Given the description of an element on the screen output the (x, y) to click on. 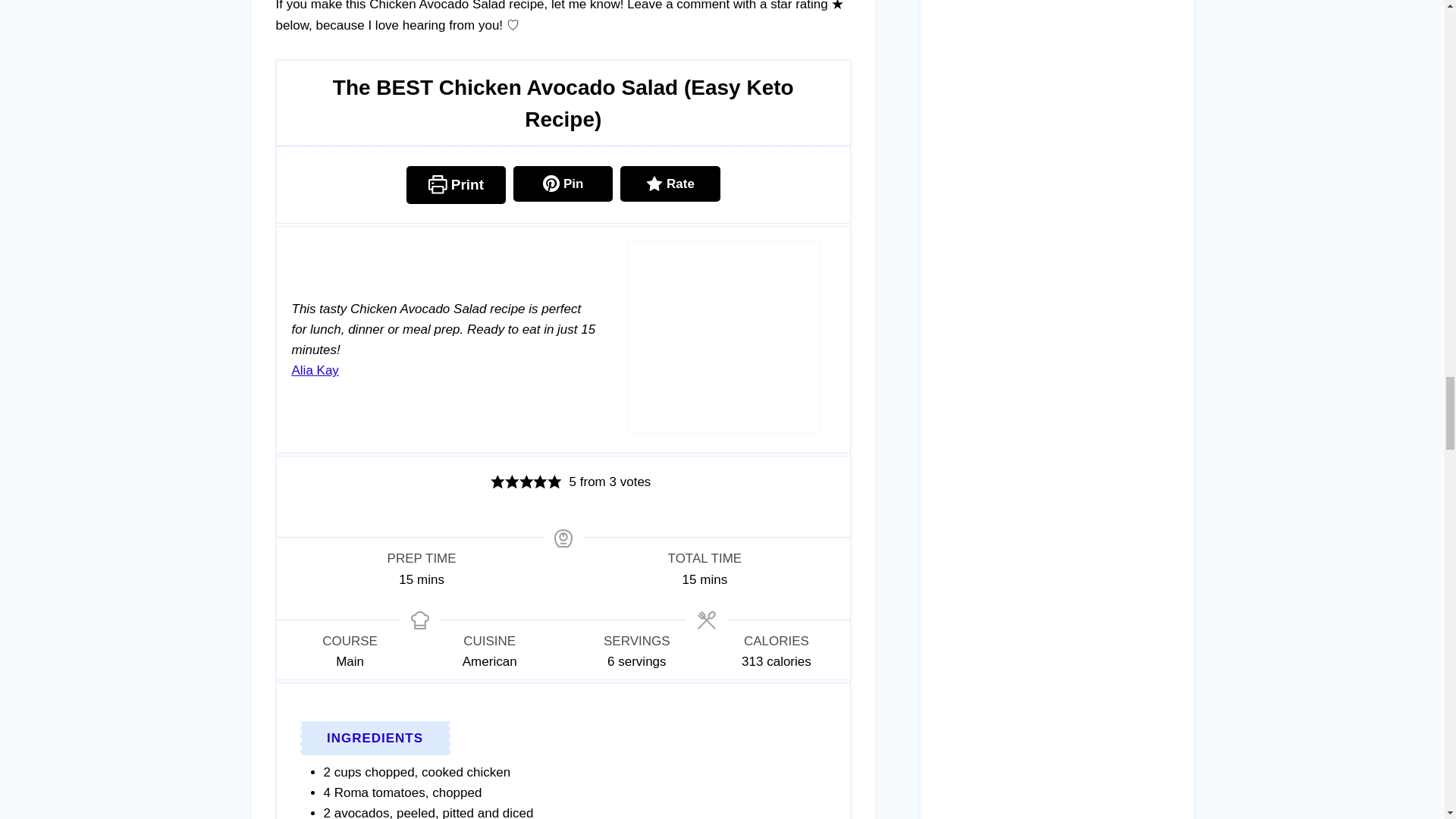
Alia Kay (314, 370)
Rate (669, 183)
Pin (562, 183)
Print (455, 184)
